Given the description of an element on the screen output the (x, y) to click on. 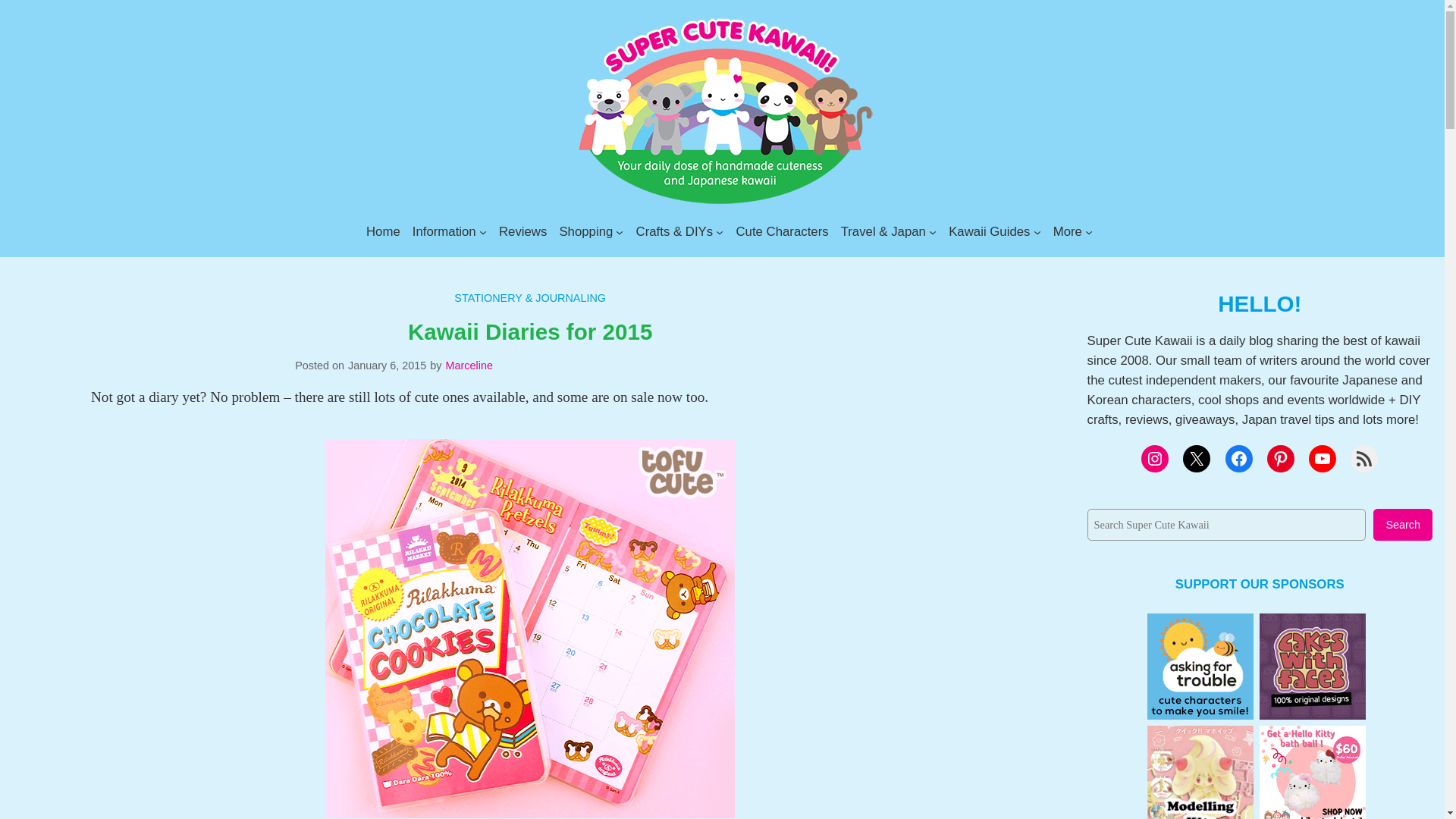
Shopping (585, 231)
Reviews (523, 231)
Information (444, 231)
Home (383, 231)
